Given the description of an element on the screen output the (x, y) to click on. 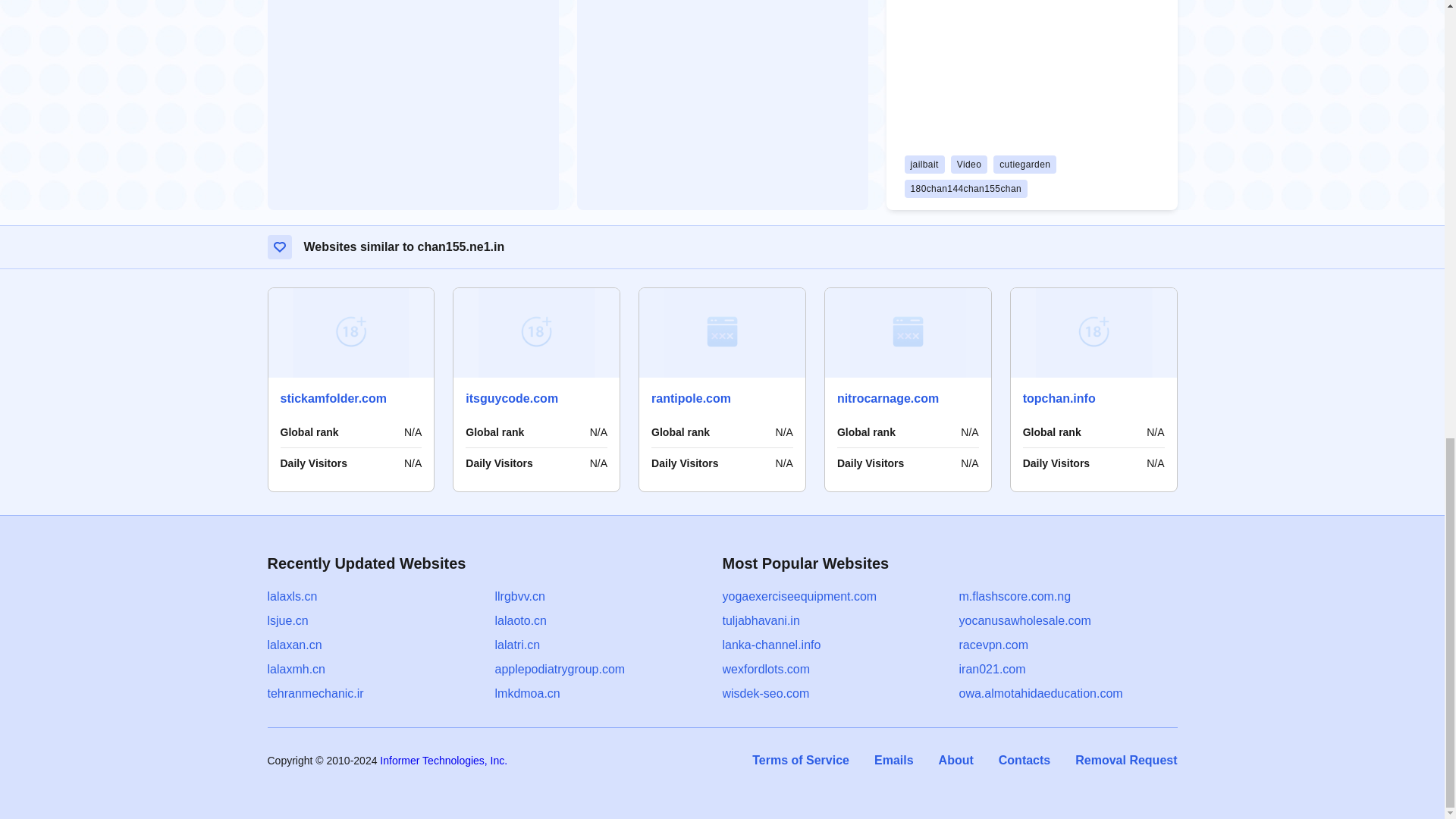
llrgbvv.cn (519, 595)
owa.almotahidaeducation.com (1040, 693)
itsguycode.com (511, 398)
lalaxan.cn (293, 644)
iran021.com (991, 668)
applepodiatrygroup.com (559, 668)
lmkdmoa.cn (527, 693)
stickamfolder.com (334, 398)
topchan.info (1059, 398)
lalatri.cn (517, 644)
